Given the description of an element on the screen output the (x, y) to click on. 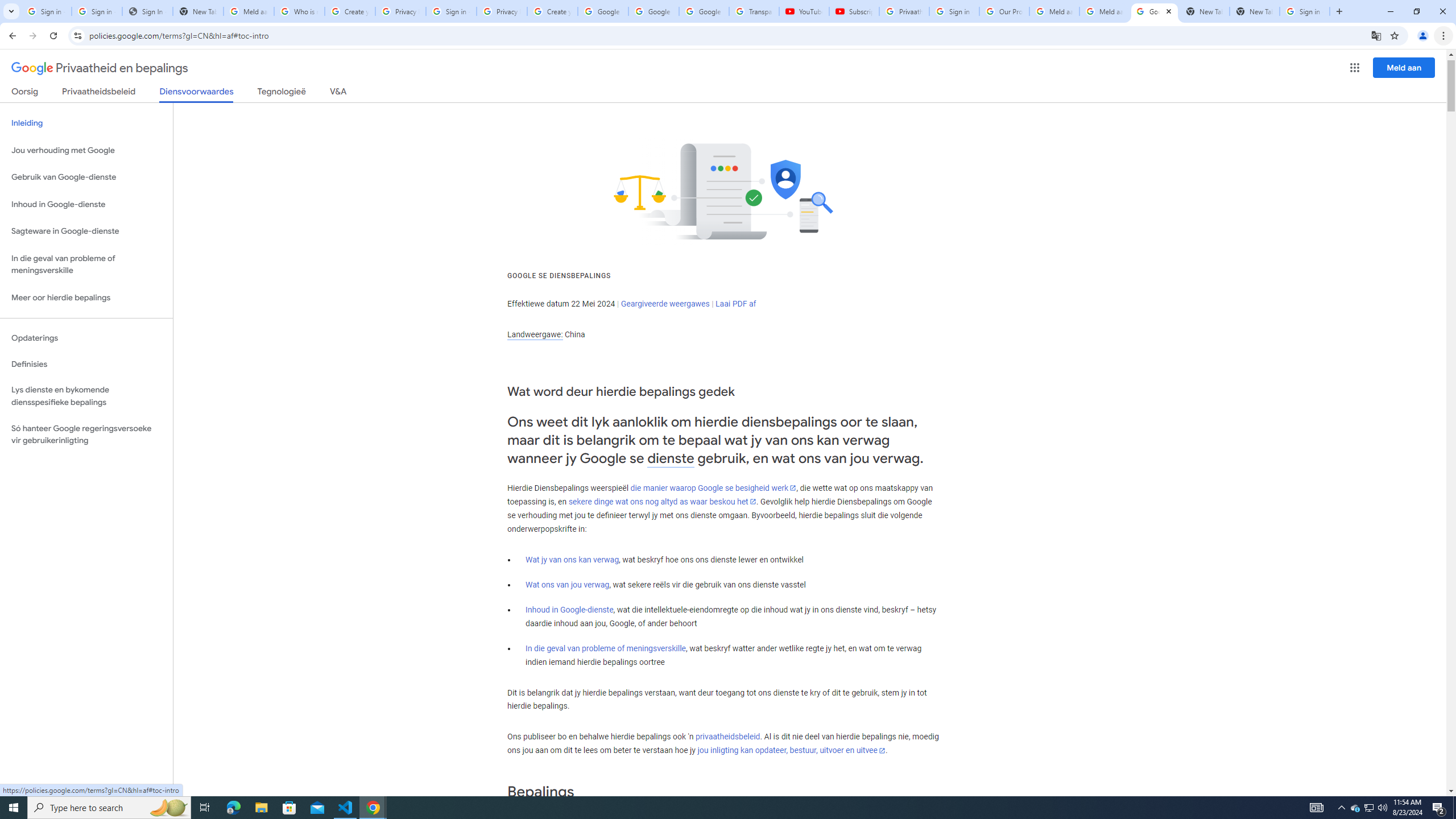
Gebruik van Google-dienste (86, 176)
Diensvoorwaardes (196, 94)
Privaatheid en bepalings (99, 68)
Create your Google Account (350, 11)
Sagteware in Google-dienste (86, 230)
Wat ons van jou verwag (567, 584)
Translate this page (1376, 35)
Geargiveerde weergawes (665, 303)
die manier waarop Google se besigheid werk (713, 488)
